Given the description of an element on the screen output the (x, y) to click on. 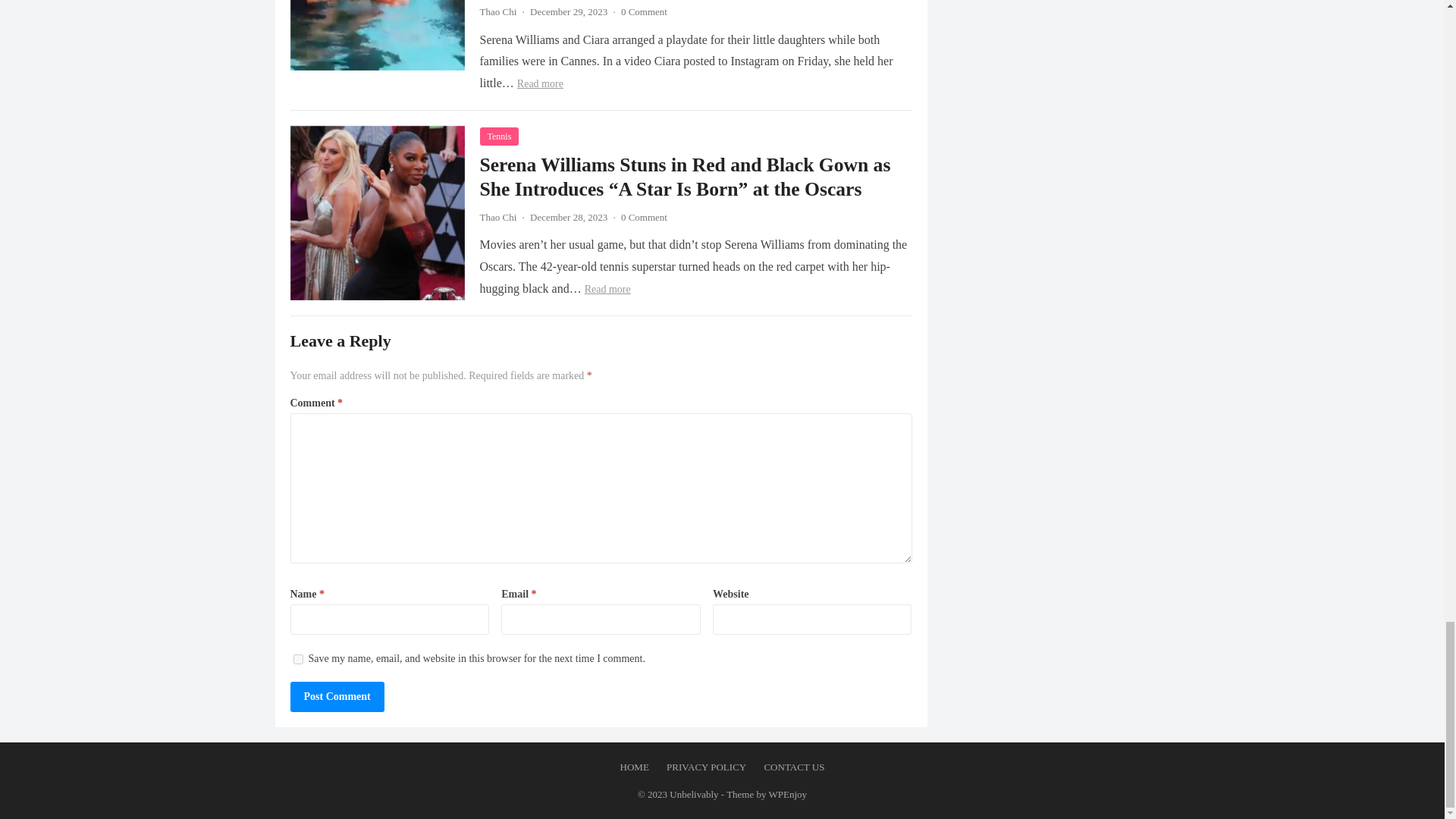
Post Comment (336, 696)
yes (297, 659)
Posts by Thao Chi (497, 11)
Posts by Thao Chi (497, 216)
